Given the description of an element on the screen output the (x, y) to click on. 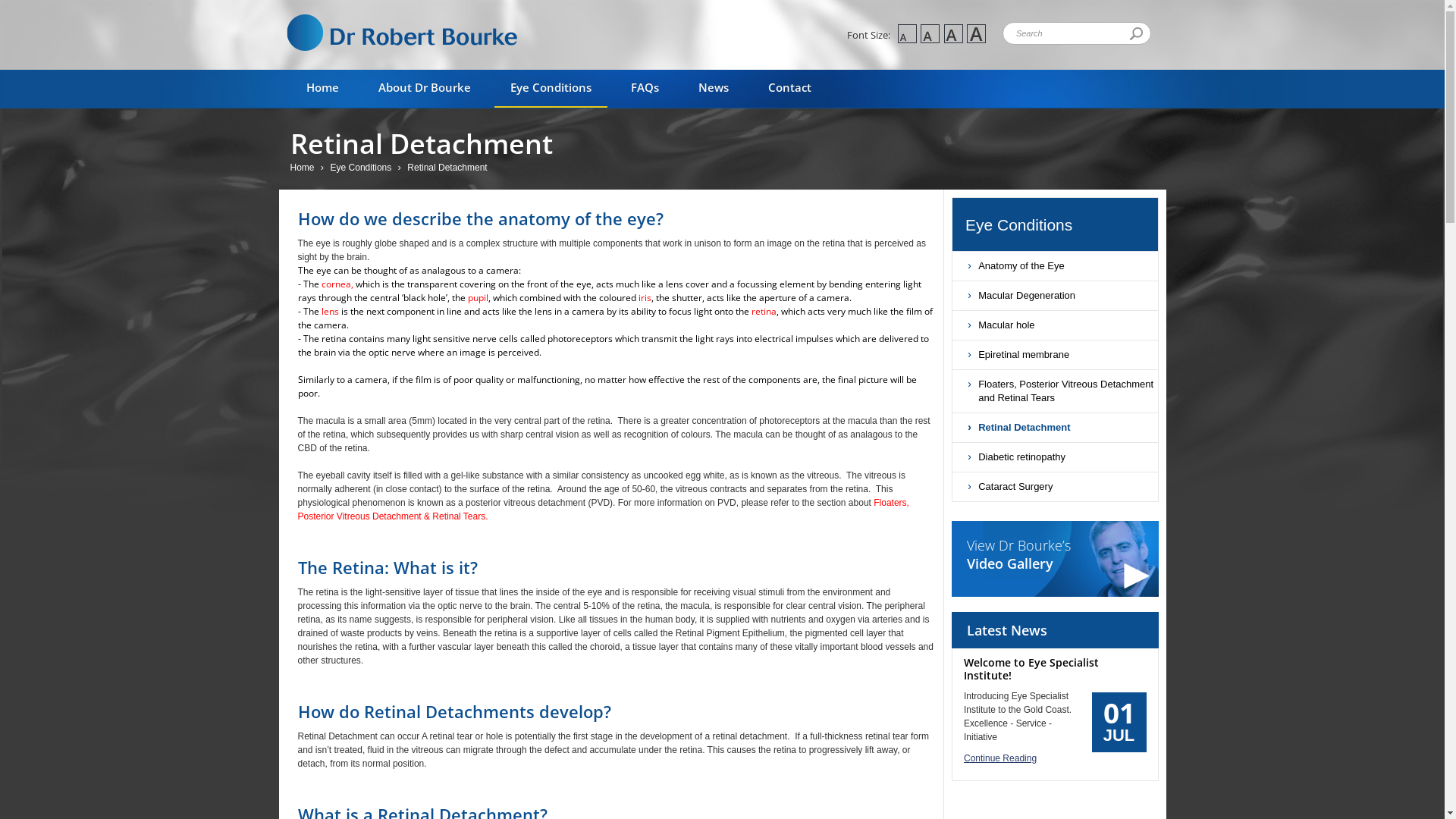
Macular Degeneration Element type: text (1054, 295)
Floaters, Posterior Vitreous Detachment and Retinal Tears Element type: text (1054, 391)
Contact Element type: text (789, 88)
Welcome to Eye Specialist Institute! Element type: text (1030, 668)
Diabetic retinopathy Element type: text (1054, 456)
Eye Conditions Element type: text (550, 88)
Cataract Surgery Element type: text (1054, 486)
FAQs Element type: text (644, 88)
Eye Conditions Element type: text (1061, 224)
Continue Reading Element type: text (1054, 758)
Retinal Detachment Element type: text (1054, 427)
About Dr Bourke Element type: text (424, 88)
Eye Conditions Element type: text (362, 167)
Anatomy of the Eye Element type: text (1054, 265)
News Element type: text (713, 88)
Retinal Detachment Element type: text (448, 167)
Macular hole Element type: text (1054, 324)
Home Element type: text (303, 167)
Home Element type: text (321, 88)
Epiretinal membrane Element type: text (1054, 354)
